Given the description of an element on the screen output the (x, y) to click on. 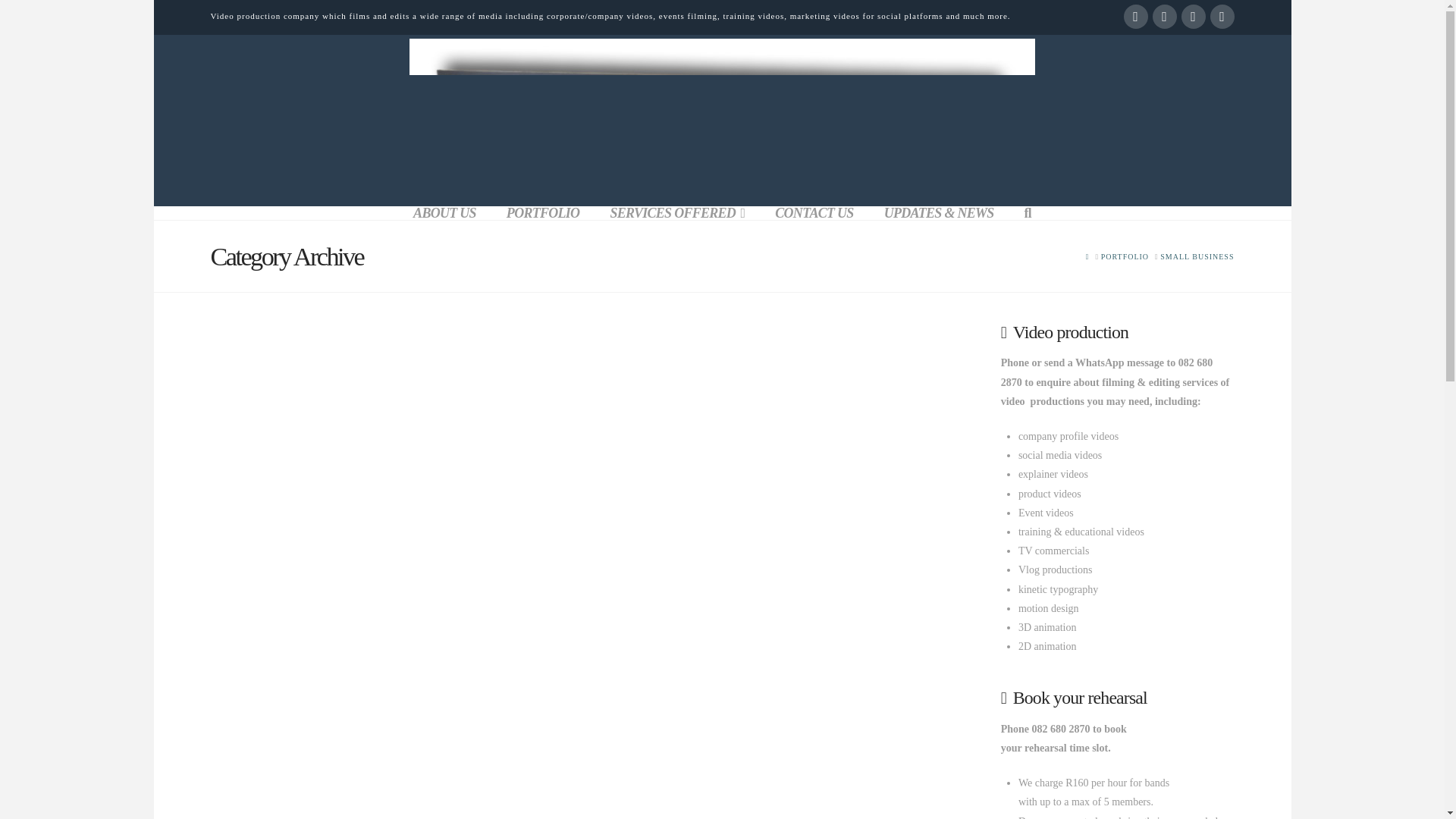
SMALL BUSINESS (1196, 256)
SoundCloud (1221, 16)
ABOUT US (444, 213)
YouTube (1164, 16)
You Are Here (1196, 256)
CONTACT US (813, 213)
Facebook (1136, 16)
PORTFOLIO (543, 213)
Instagram (1192, 16)
PORTFOLIO (1124, 256)
SERVICES OFFERED (677, 213)
